Given the description of an element on the screen output the (x, y) to click on. 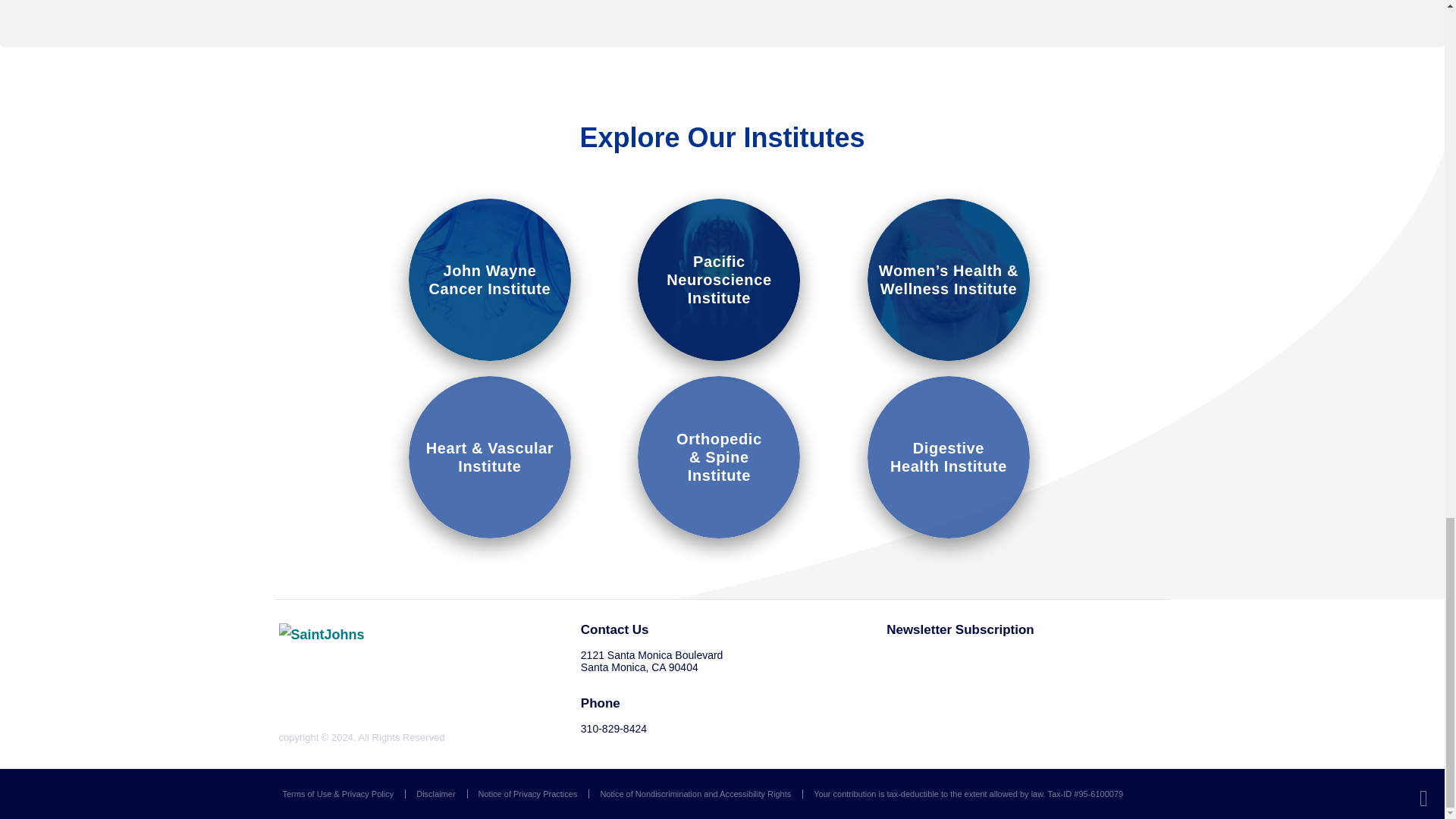
Notice of Nondiscrimination and Accessibility Rights (694, 793)
Notice of Privacy Practices (948, 456)
Disclaimer (528, 793)
310-829-8424 (435, 793)
